Given the description of an element on the screen output the (x, y) to click on. 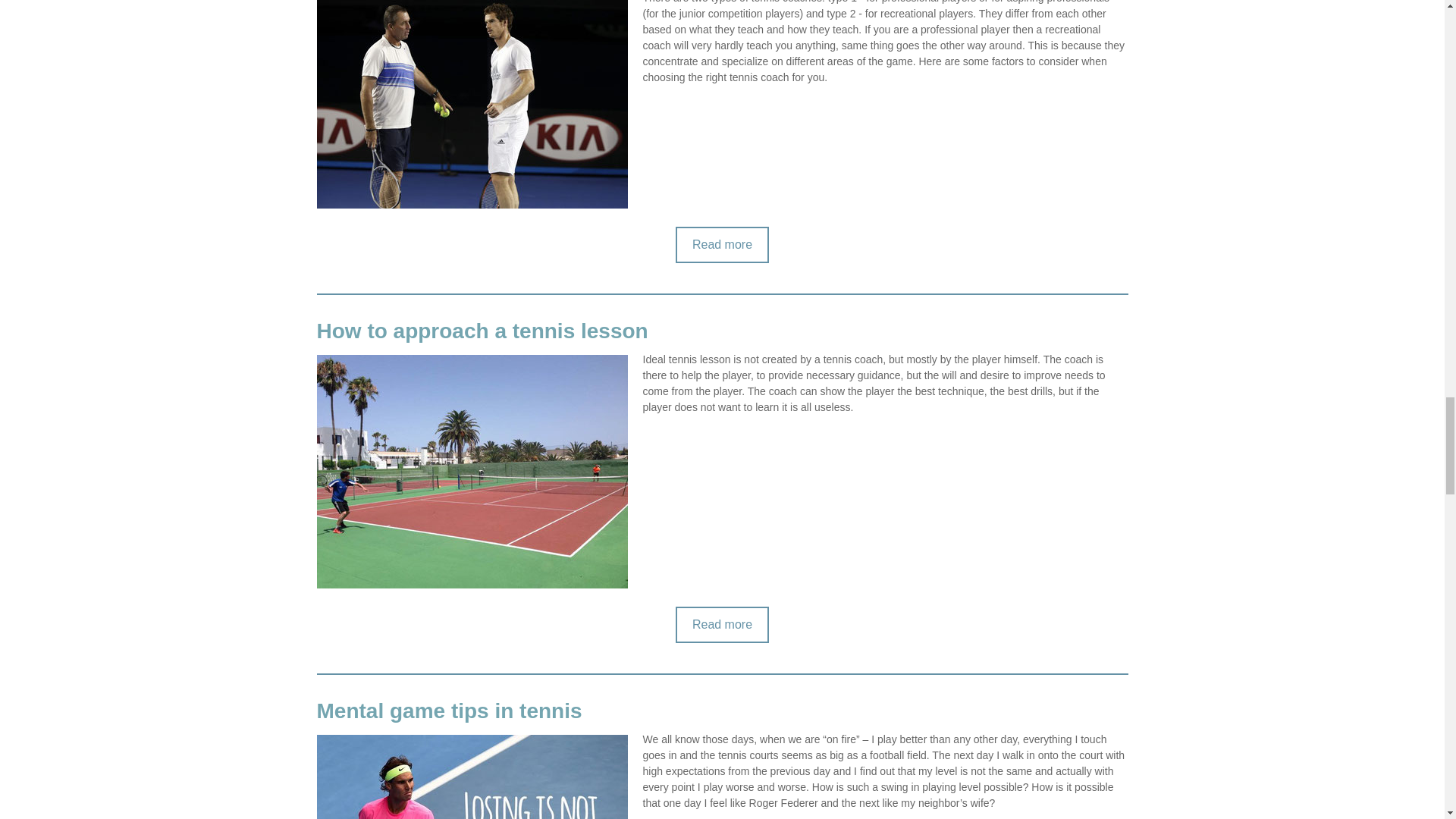
Read more (721, 244)
